Given the description of an element on the screen output the (x, y) to click on. 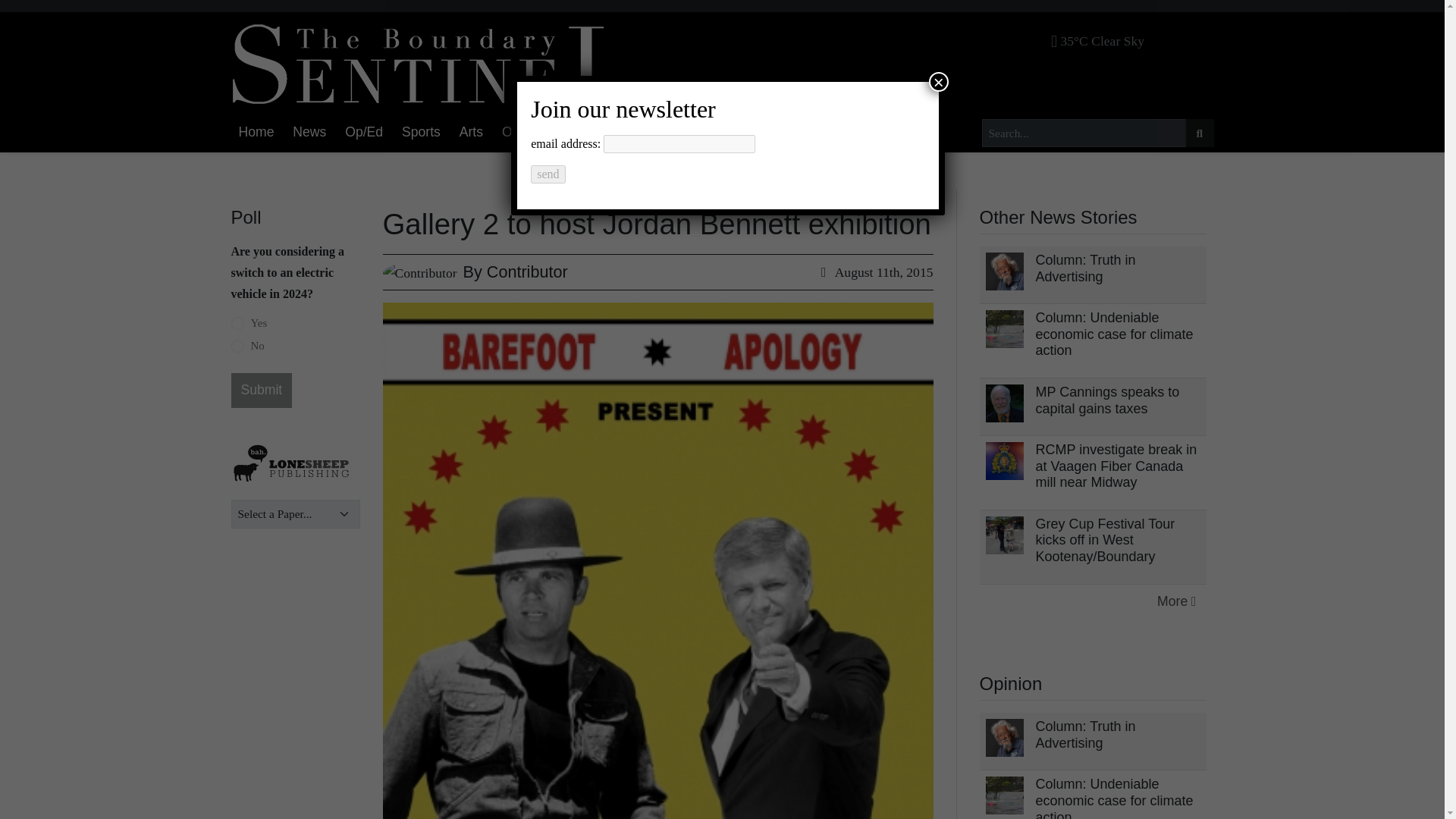
Home (255, 132)
Column: Undeniable economic case for climate action (1114, 333)
send (547, 174)
Events (571, 132)
Sports (421, 132)
Column: Truth in Advertising (1085, 268)
Column: Undeniable economic case for climate action (1114, 797)
gpoll1892df81e (237, 323)
MP Cannings speaks to capital gains taxes (1107, 400)
News (309, 132)
Submit (261, 390)
Submit (261, 390)
Obits (517, 132)
Column: Truth in Advertising (1085, 735)
